Given the description of an element on the screen output the (x, y) to click on. 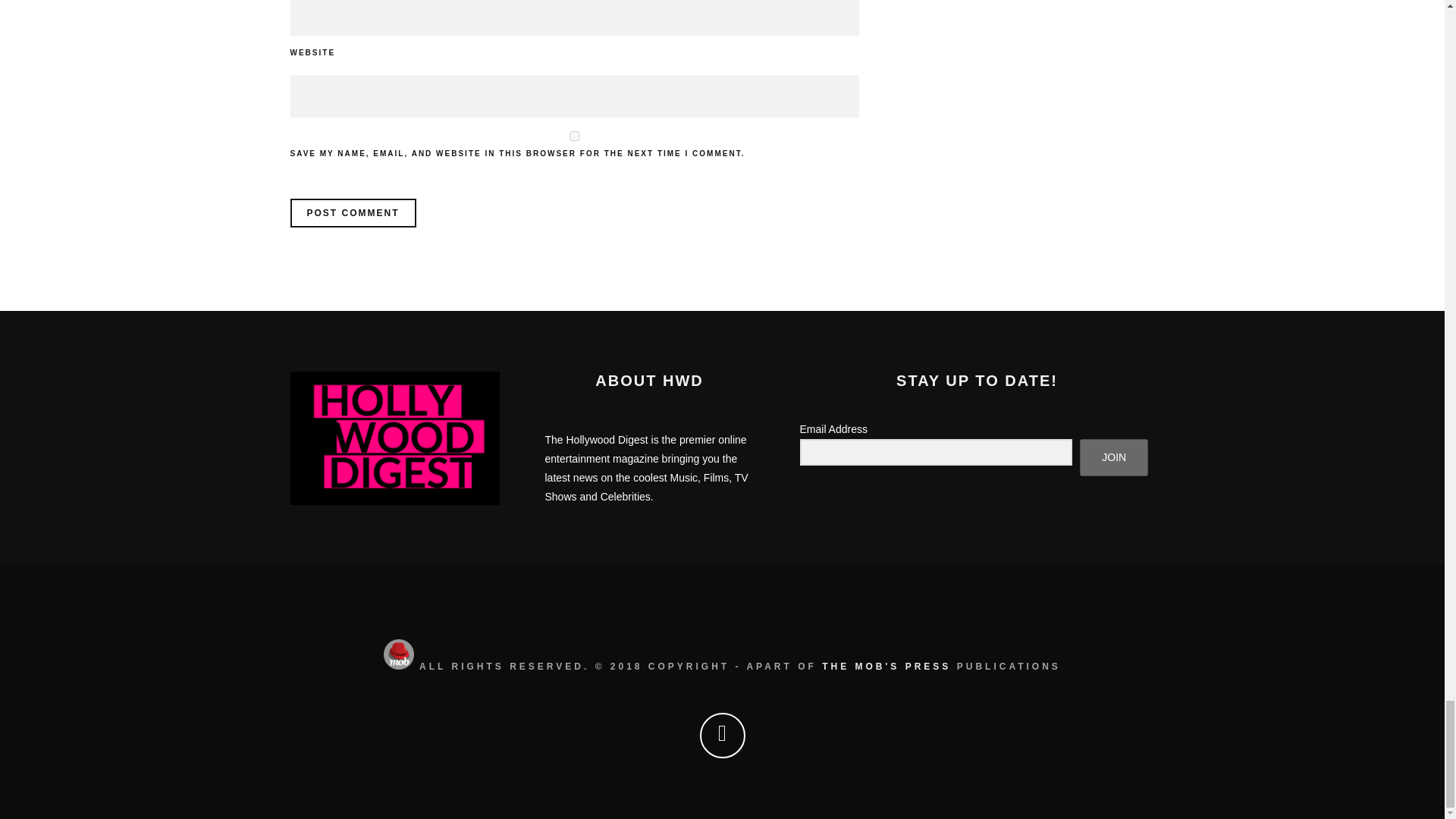
yes (574, 135)
Post Comment (351, 213)
